Given the description of an element on the screen output the (x, y) to click on. 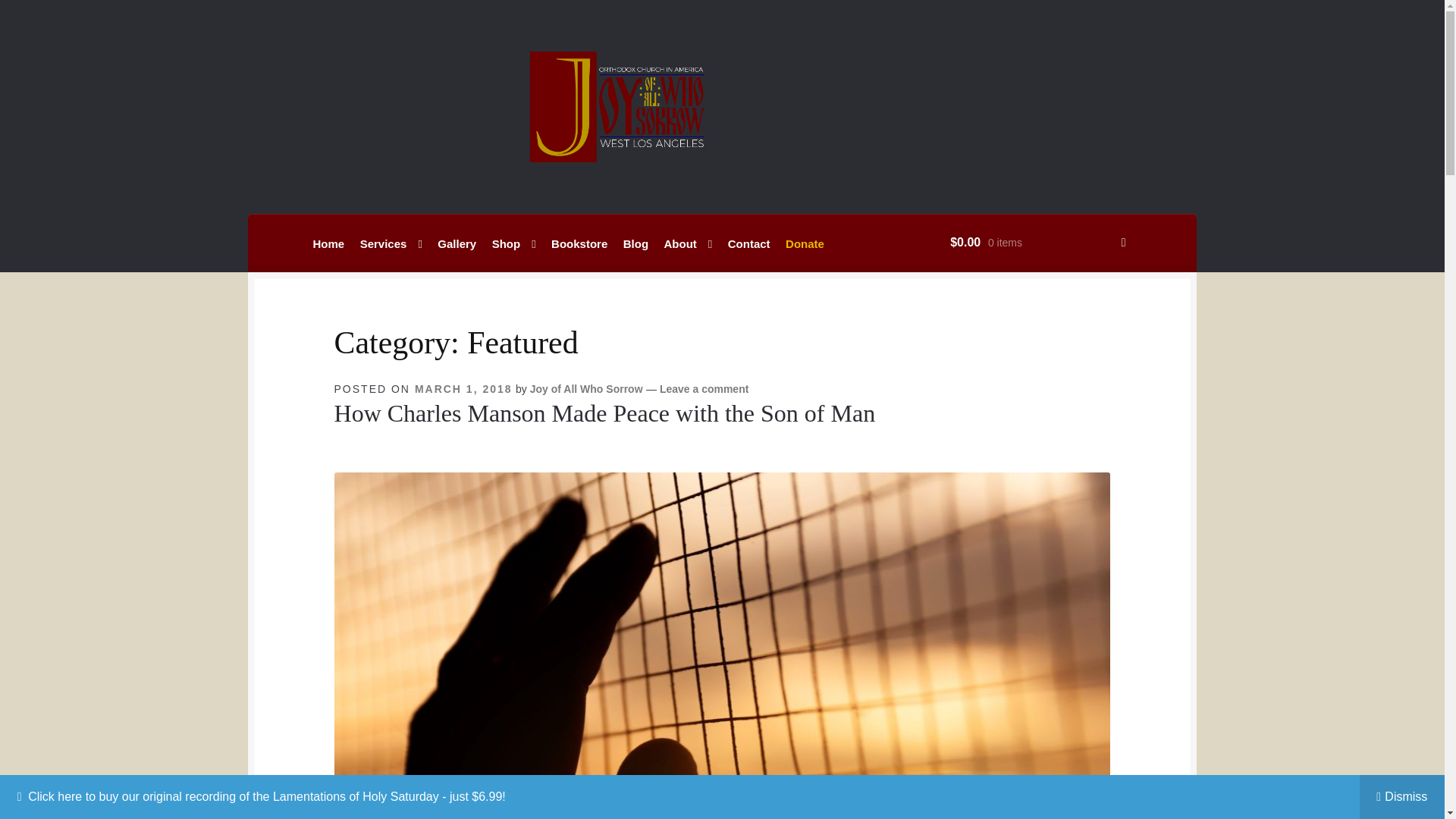
Services (390, 242)
Shop (513, 242)
About (688, 242)
Bookstore (578, 242)
View your shopping cart (1037, 242)
Contact (749, 242)
